Given the description of an element on the screen output the (x, y) to click on. 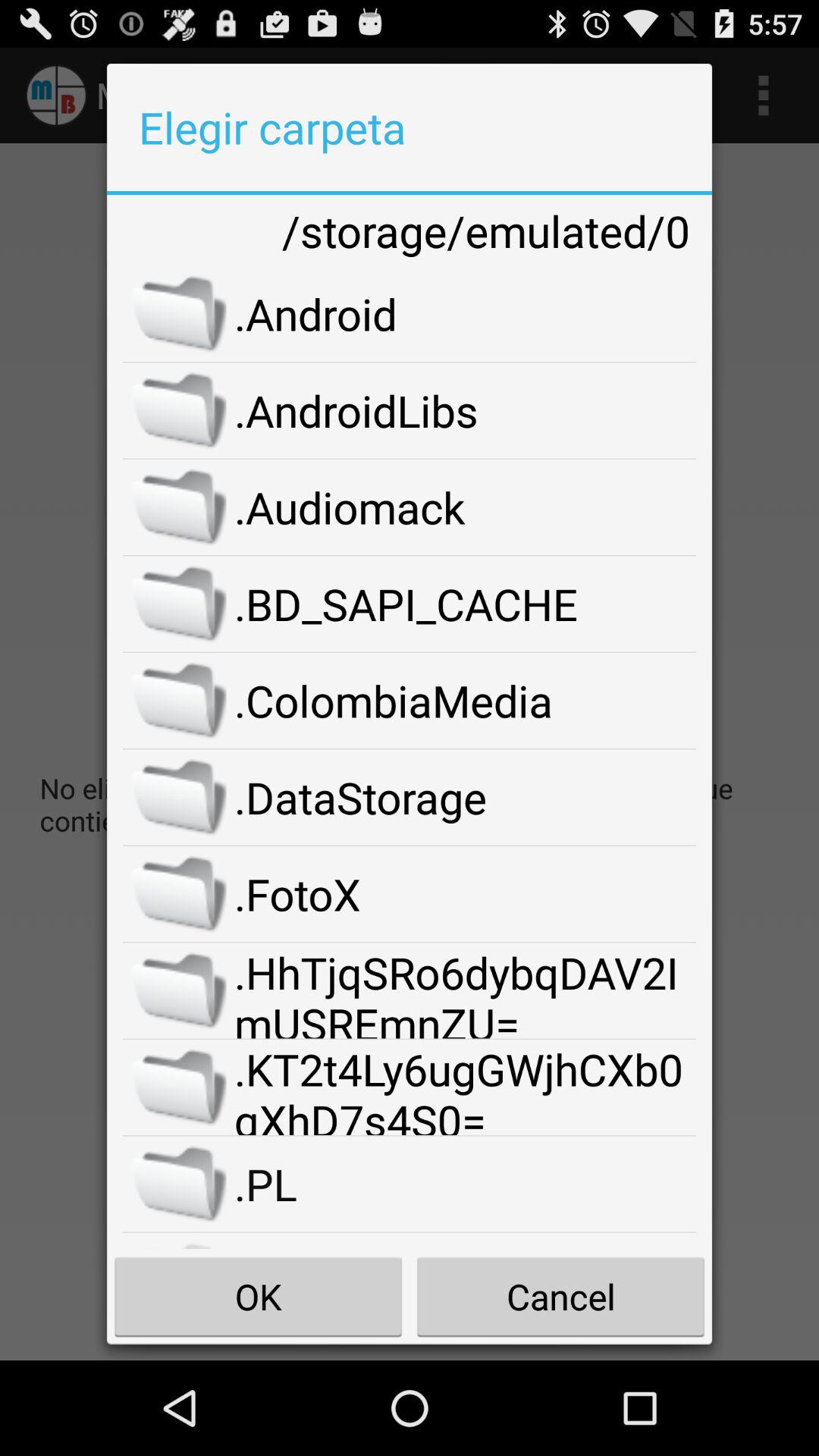
choose app below /storage/emulated/0 app (465, 313)
